Given the description of an element on the screen output the (x, y) to click on. 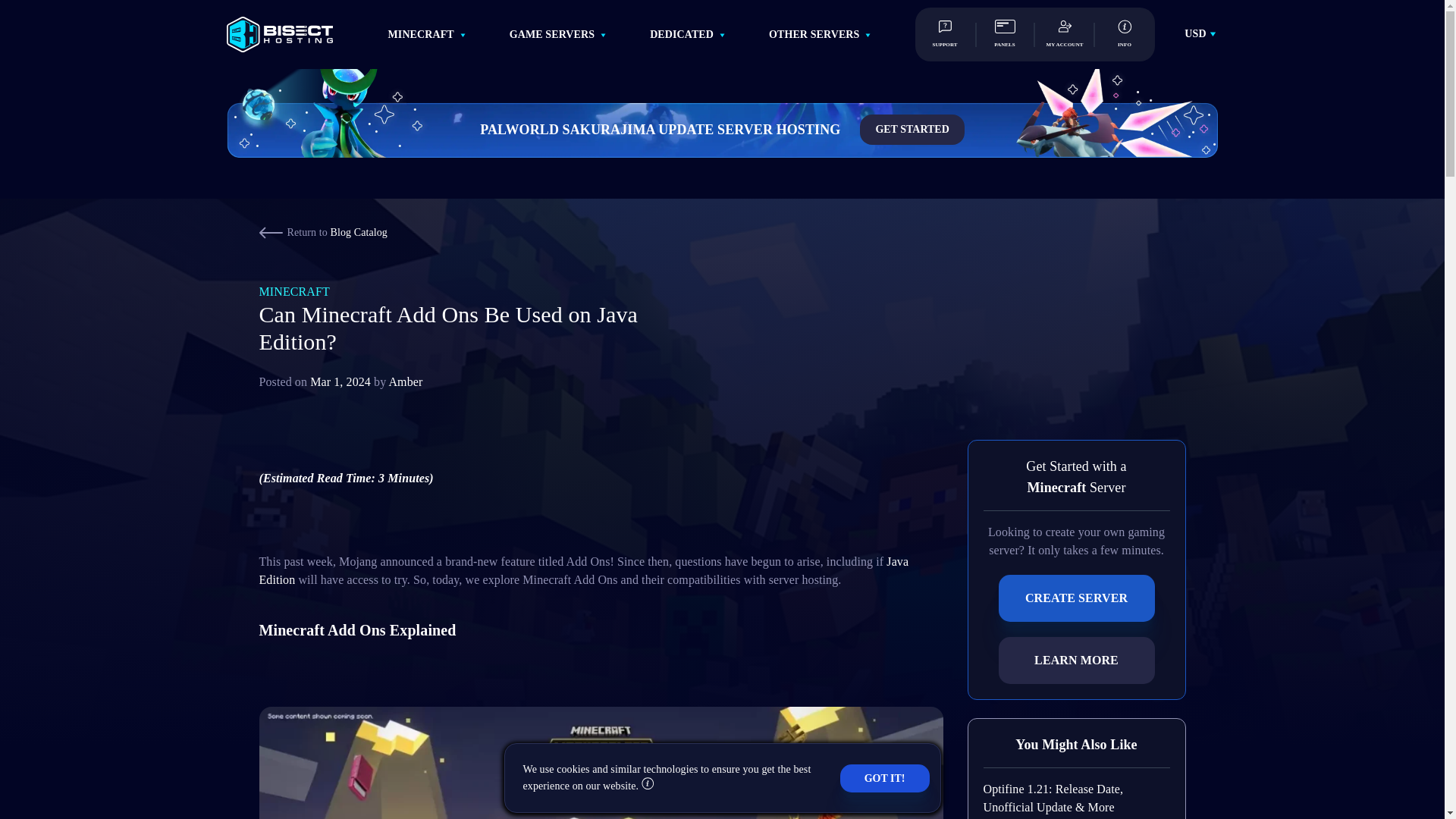
Learn more (647, 785)
GAME SERVERS (551, 34)
MINECRAFT (421, 34)
